Given the description of an element on the screen output the (x, y) to click on. 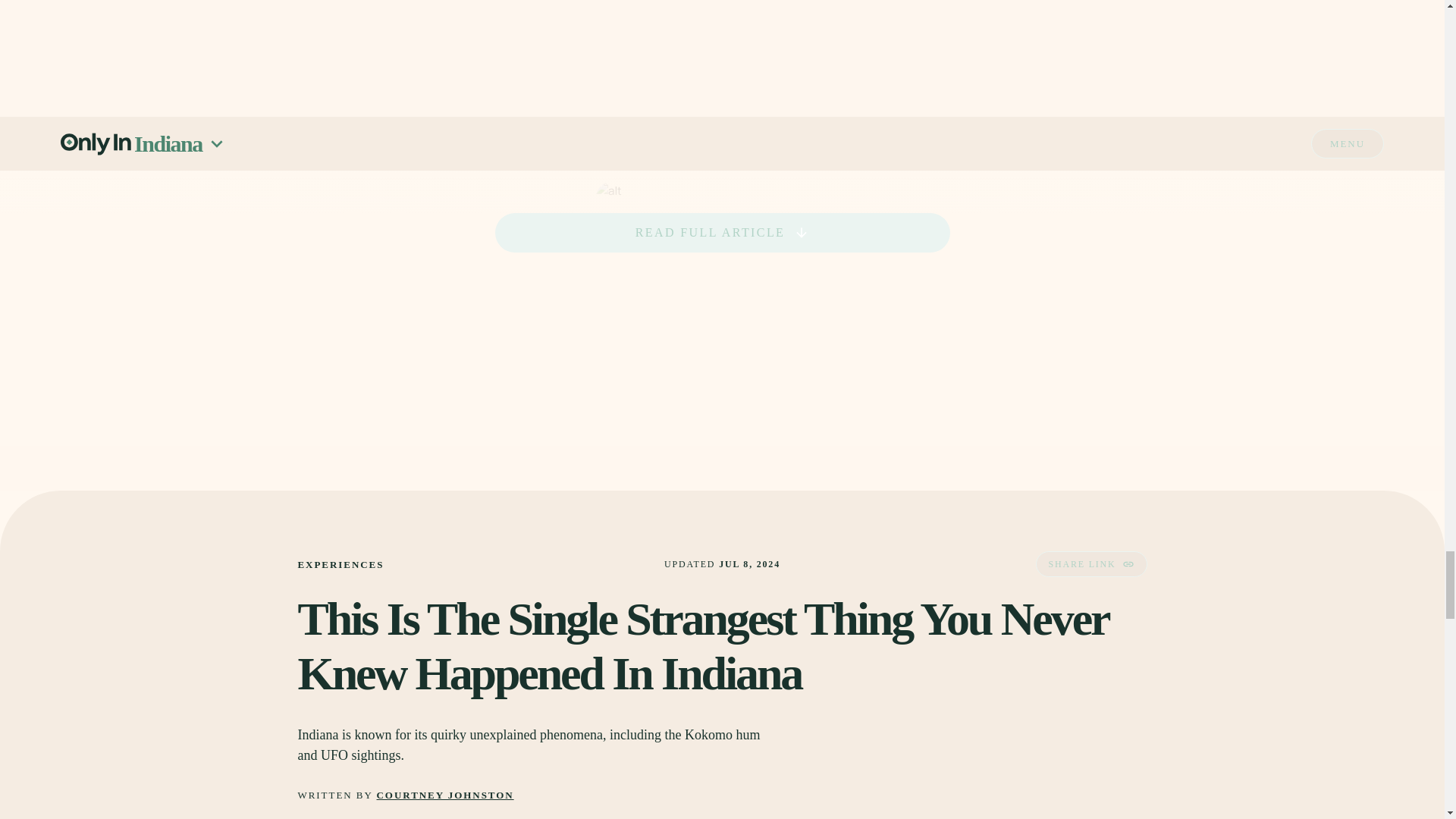
EXPERIENCES (340, 564)
French Lick Resort haunted (1024, 48)
READ FULL ARTICLE (722, 232)
